Given the description of an element on the screen output the (x, y) to click on. 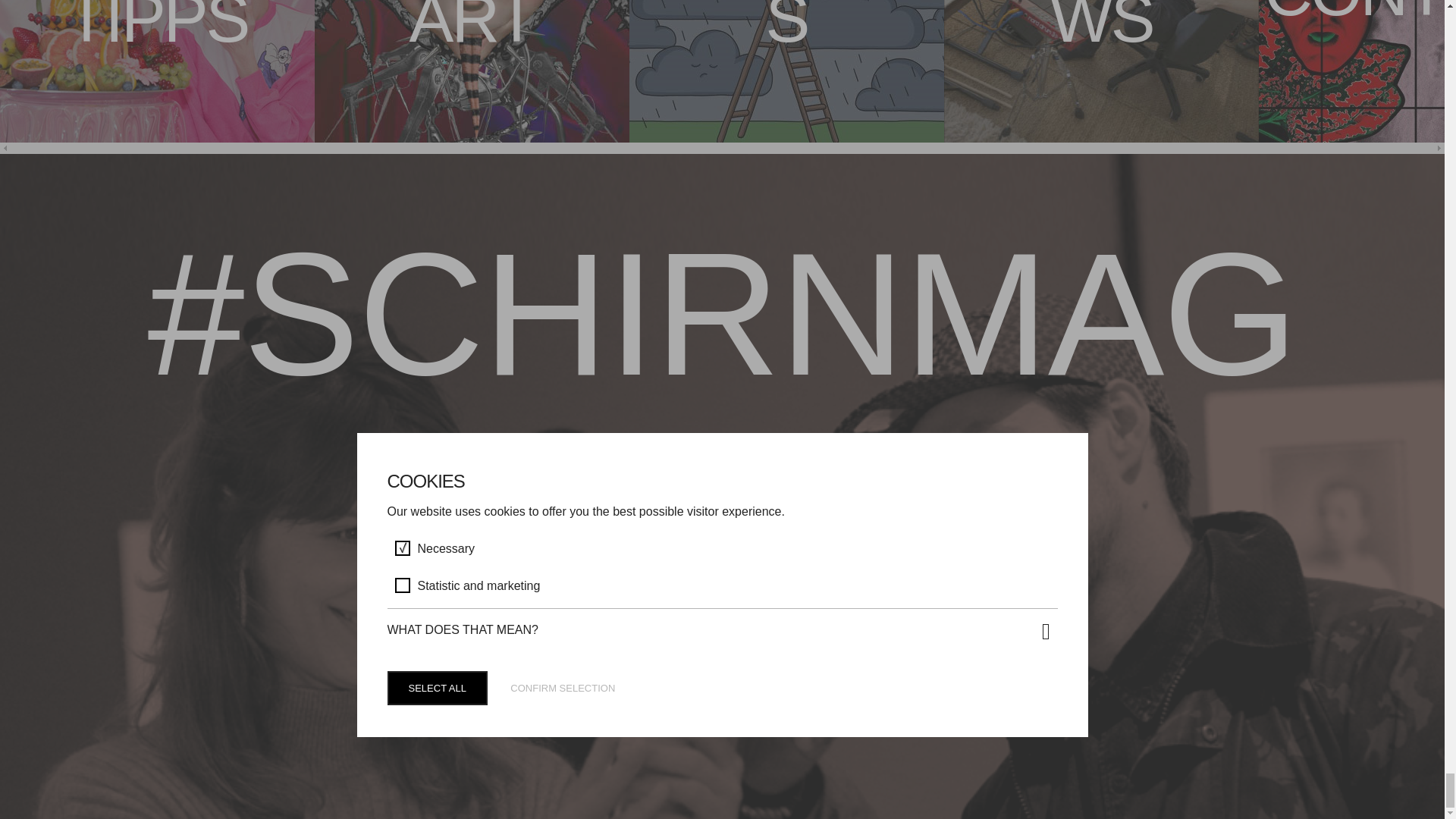
SCHIRN TIPPS (157, 76)
PODCASTS (785, 76)
VIDEO ART (471, 76)
INTERVIEWS (1101, 76)
